Given the description of an element on the screen output the (x, y) to click on. 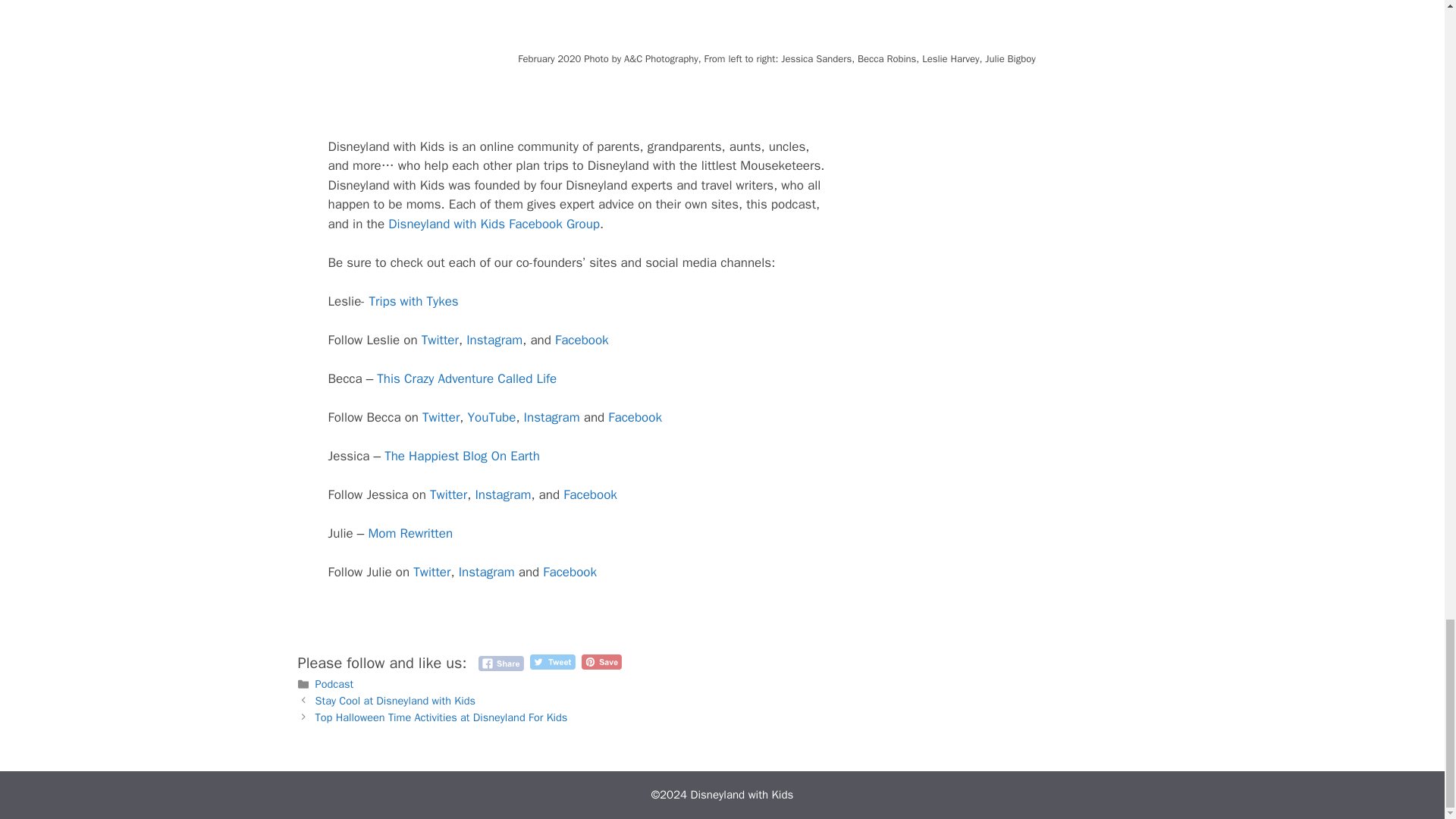
Facebook (581, 340)
The Happiest Blog On Earth (462, 455)
Next (441, 716)
Instagram (502, 494)
Twitter (441, 417)
Facebook Share (500, 663)
Instagram (493, 340)
Trips with Tykes (413, 301)
Disneyland with Kids Facebook Group (493, 223)
Pin Share (600, 661)
